Given the description of an element on the screen output the (x, y) to click on. 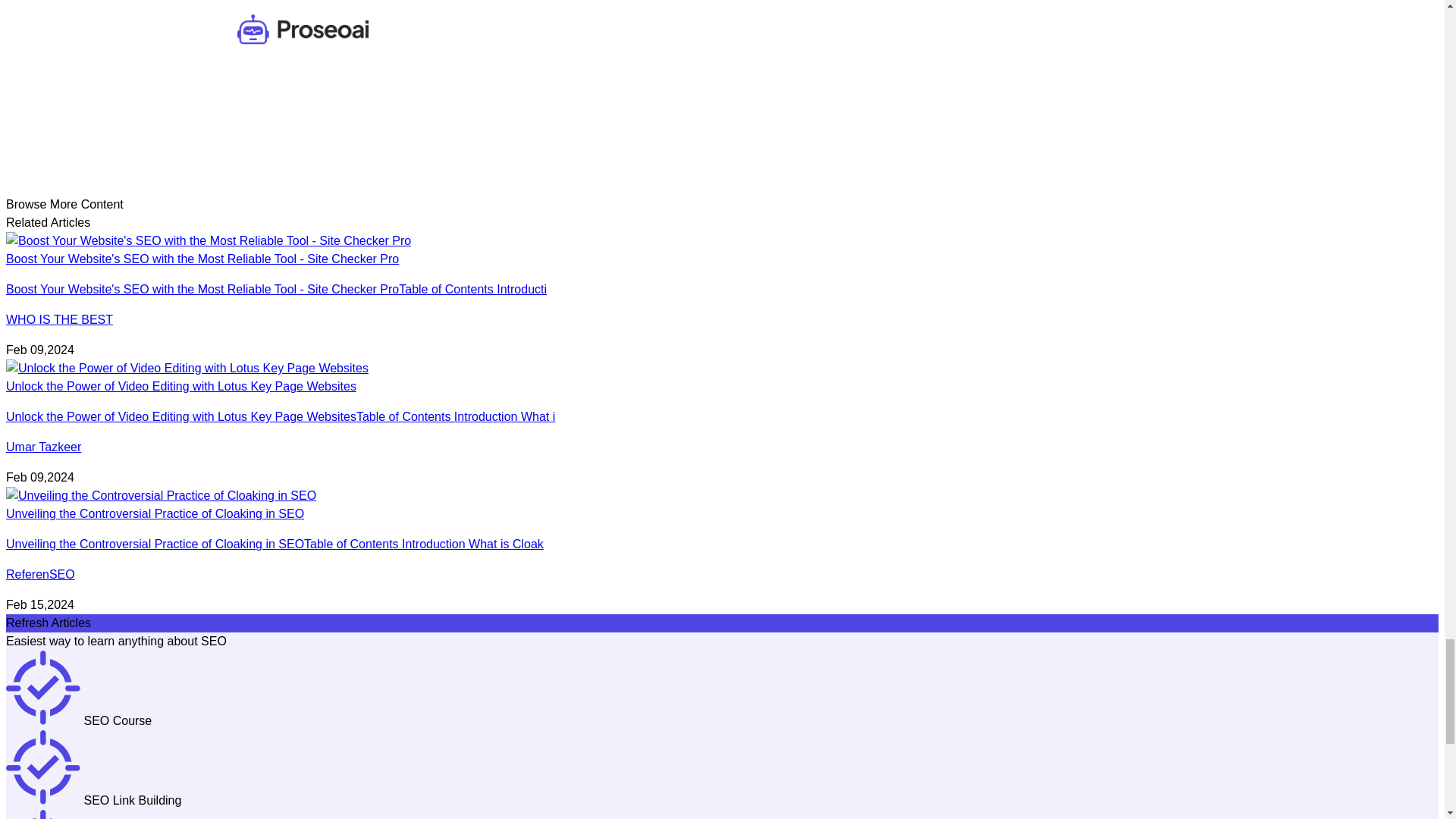
WHO IS THE BEST (59, 318)
Umar Tazkeer (43, 446)
ReferenSEO (40, 574)
